Given the description of an element on the screen output the (x, y) to click on. 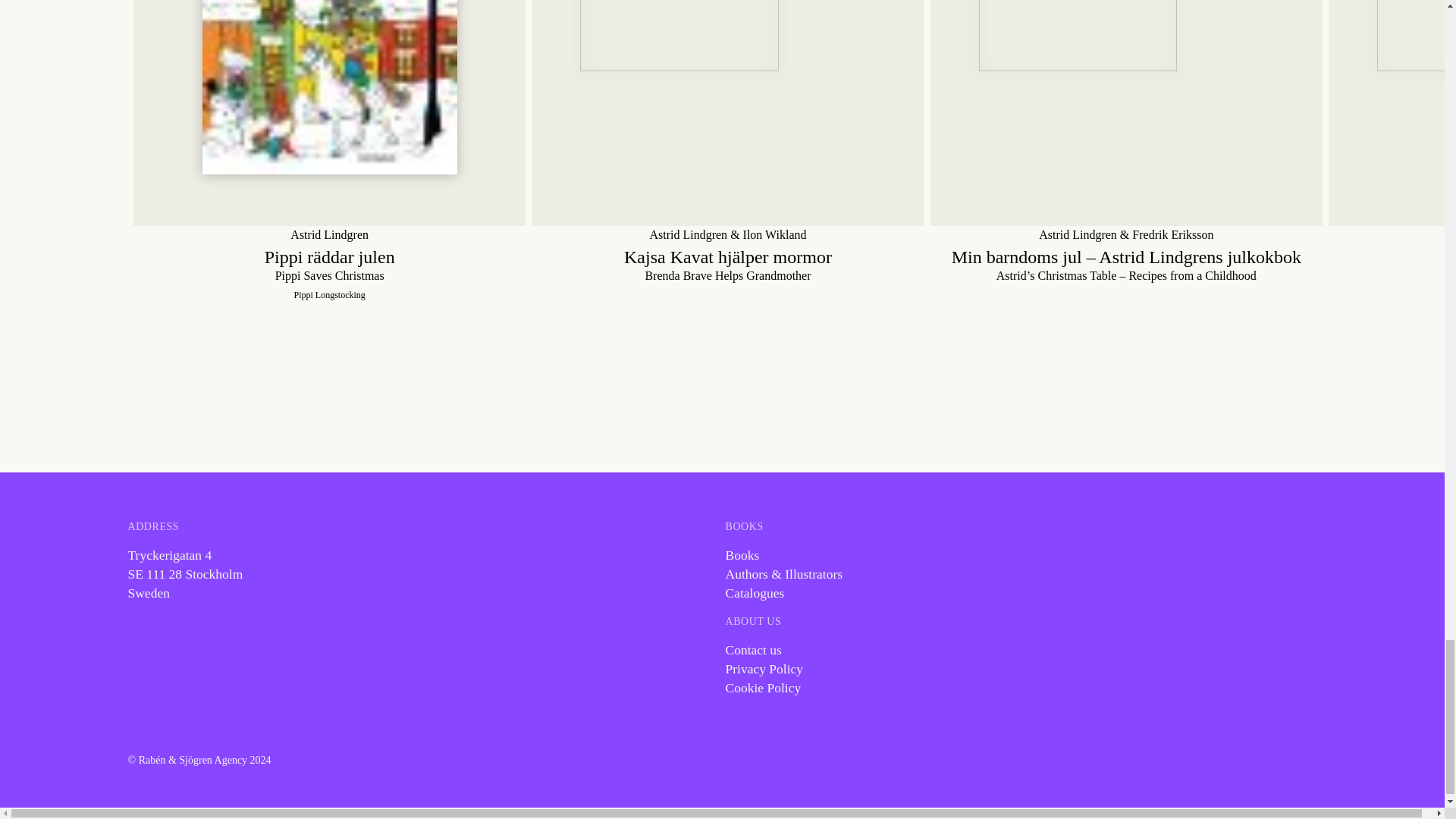
Brenda Brave Helps Grandmother (727, 113)
Pippi Saves Christmas (329, 264)
Brenda Brave Helps Grandmother (727, 264)
Pippi Saves Christmas (329, 113)
